Given the description of an element on the screen output the (x, y) to click on. 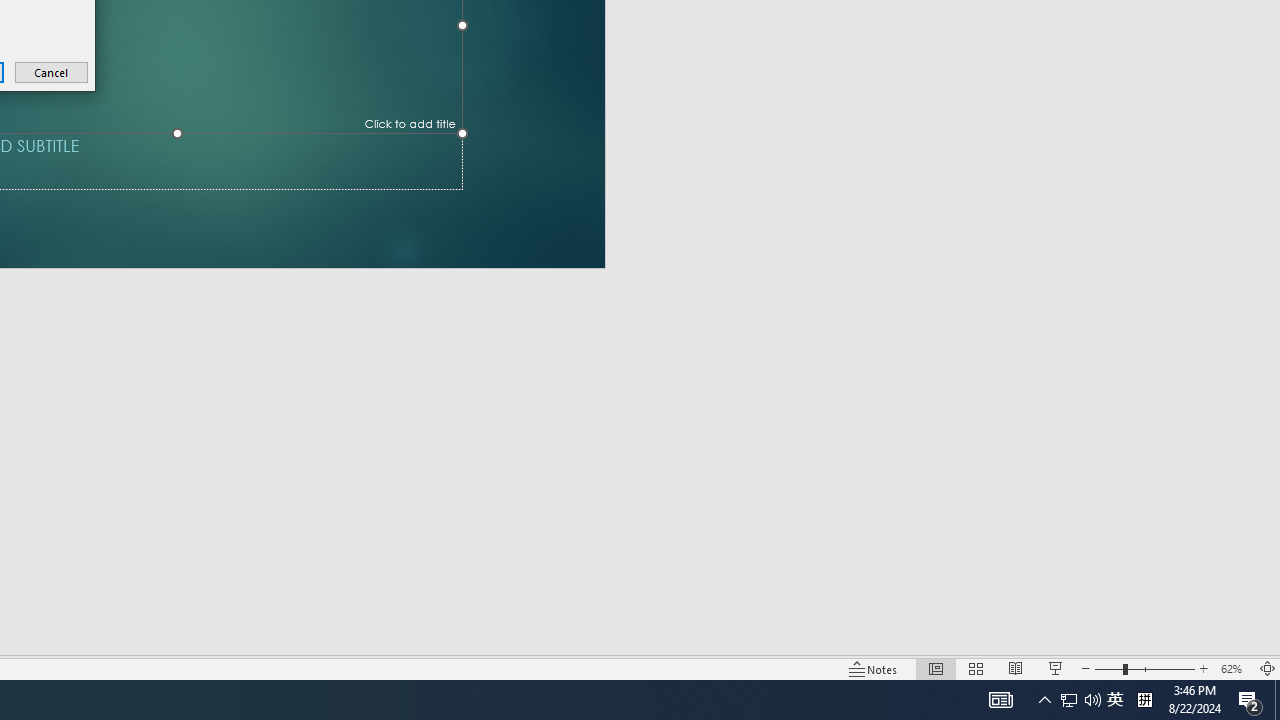
Zoom 62% (1234, 668)
Cancel (51, 72)
